Given the description of an element on the screen output the (x, y) to click on. 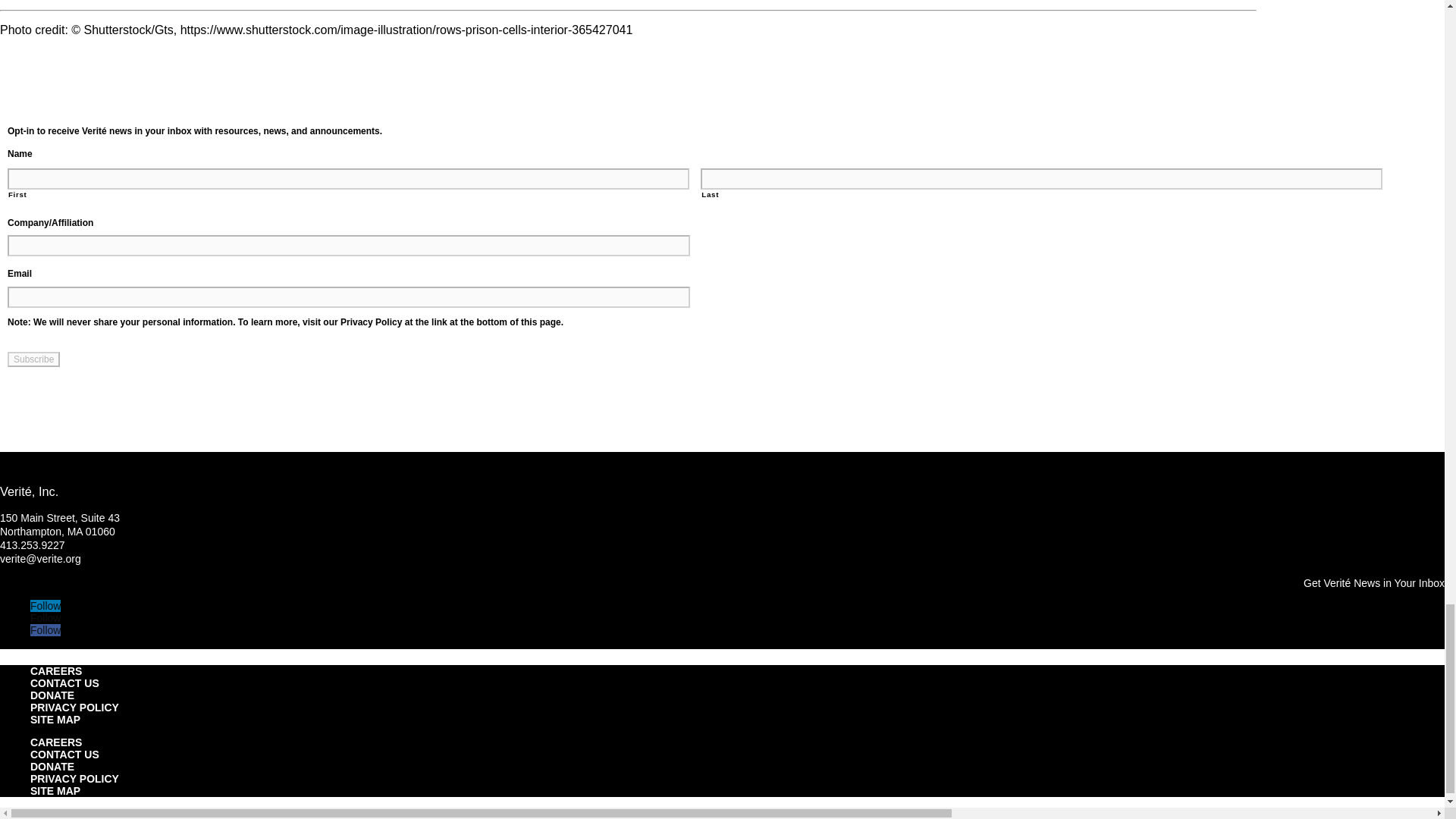
Follow on X (45, 617)
Follow on LinkedIn (45, 605)
Subscribe (33, 359)
Follow on Facebook (45, 630)
